Given the description of an element on the screen output the (x, y) to click on. 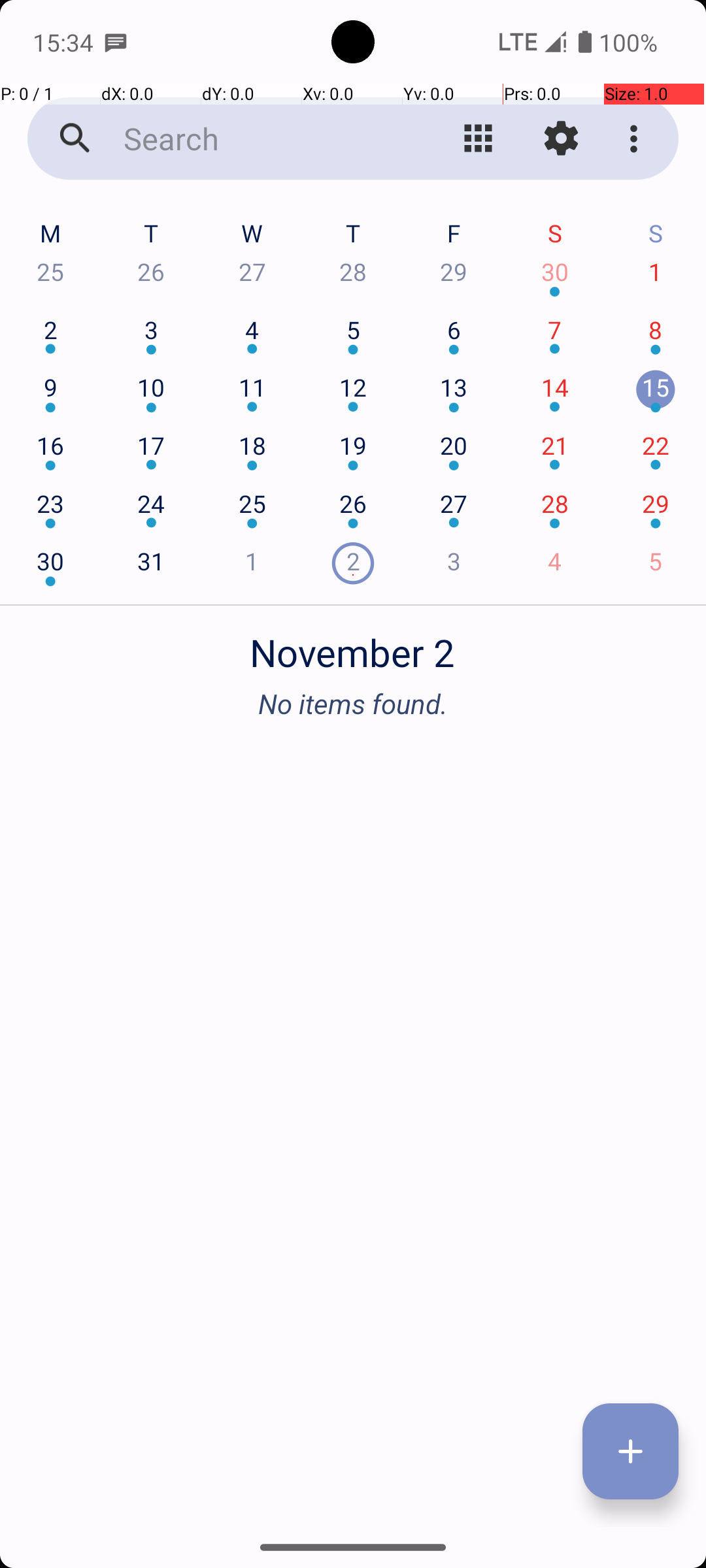
November 2 Element type: android.widget.TextView (352, 644)
